Given the description of an element on the screen output the (x, y) to click on. 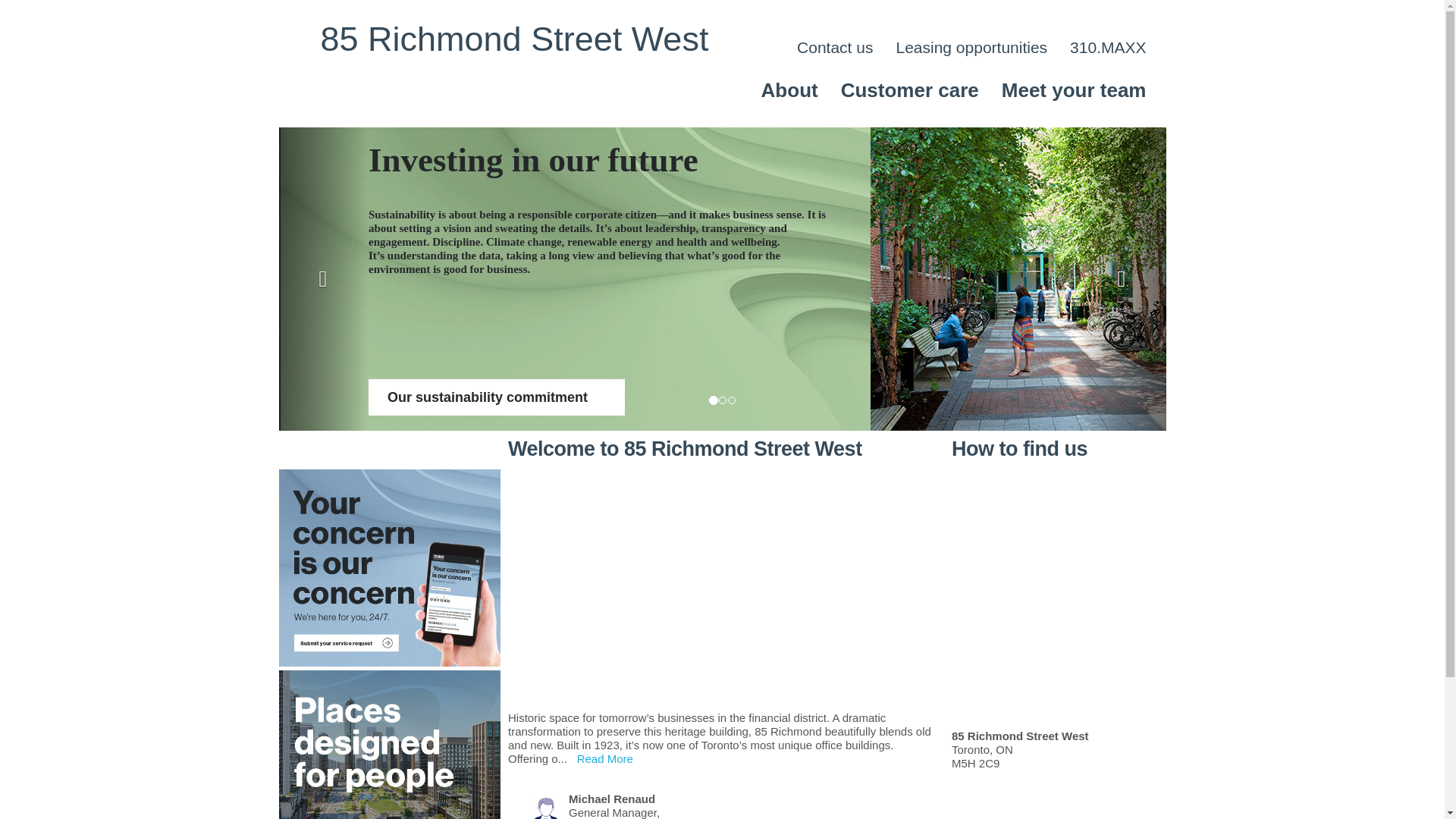
Contact us Element type: text (834, 47)
Read More Element type: text (605, 758)
Our sustainability commitment Element type: text (255, 397)
Discover Oxford Element type: text (1057, 397)
Customer care Element type: text (909, 89)
Next Element type: text (1120, 278)
Meet your team Element type: text (1073, 89)
85 Richmond Street West Element type: text (514, 38)
Previous Element type: text (323, 278)
Leasing opportunities Element type: text (971, 47)
About Element type: text (789, 89)
310.MAXX Element type: text (1107, 47)
